Given the description of an element on the screen output the (x, y) to click on. 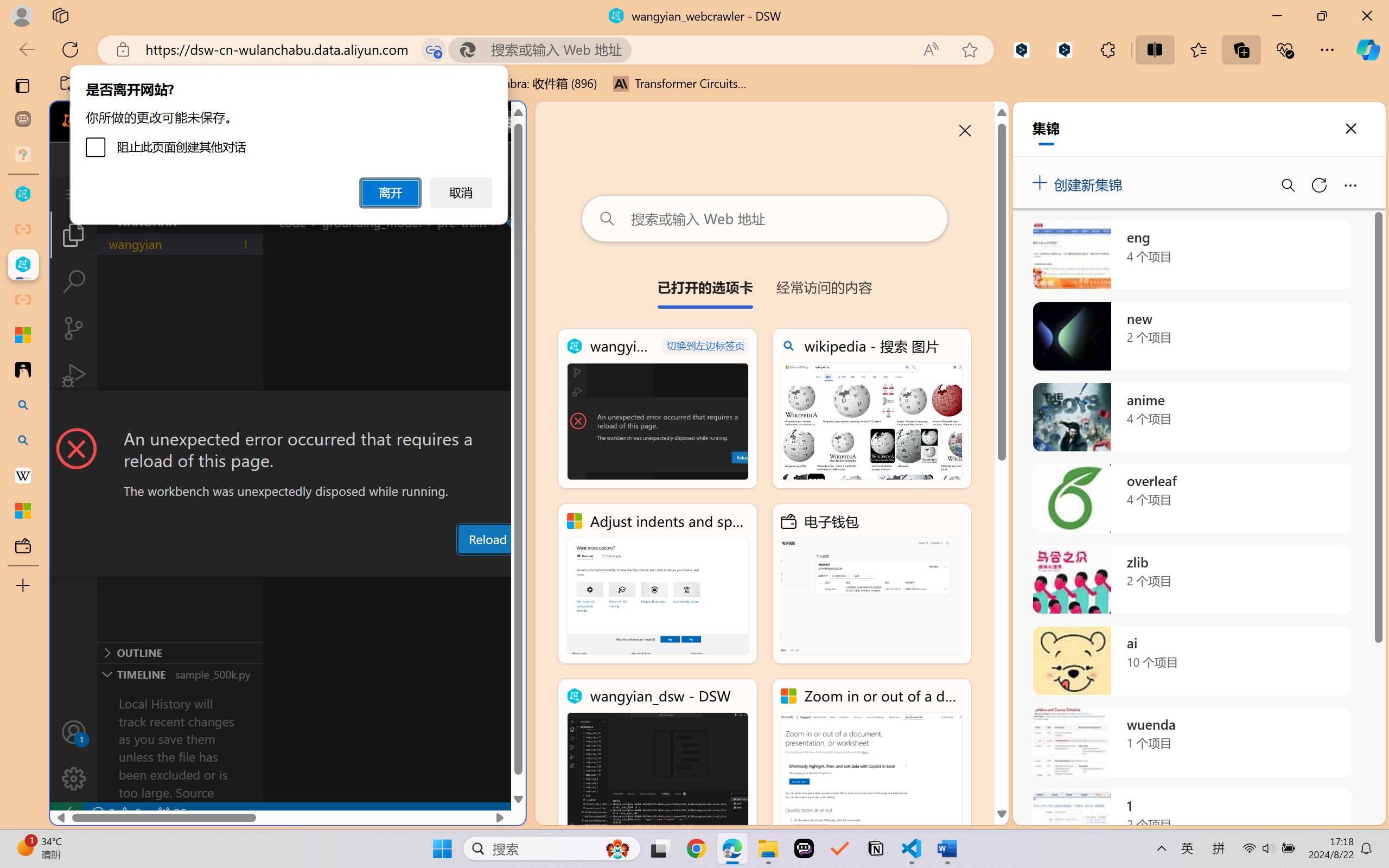
Manage (73, 755)
Output (Ctrl+Shift+U) (377, 565)
